Given the description of an element on the screen output the (x, y) to click on. 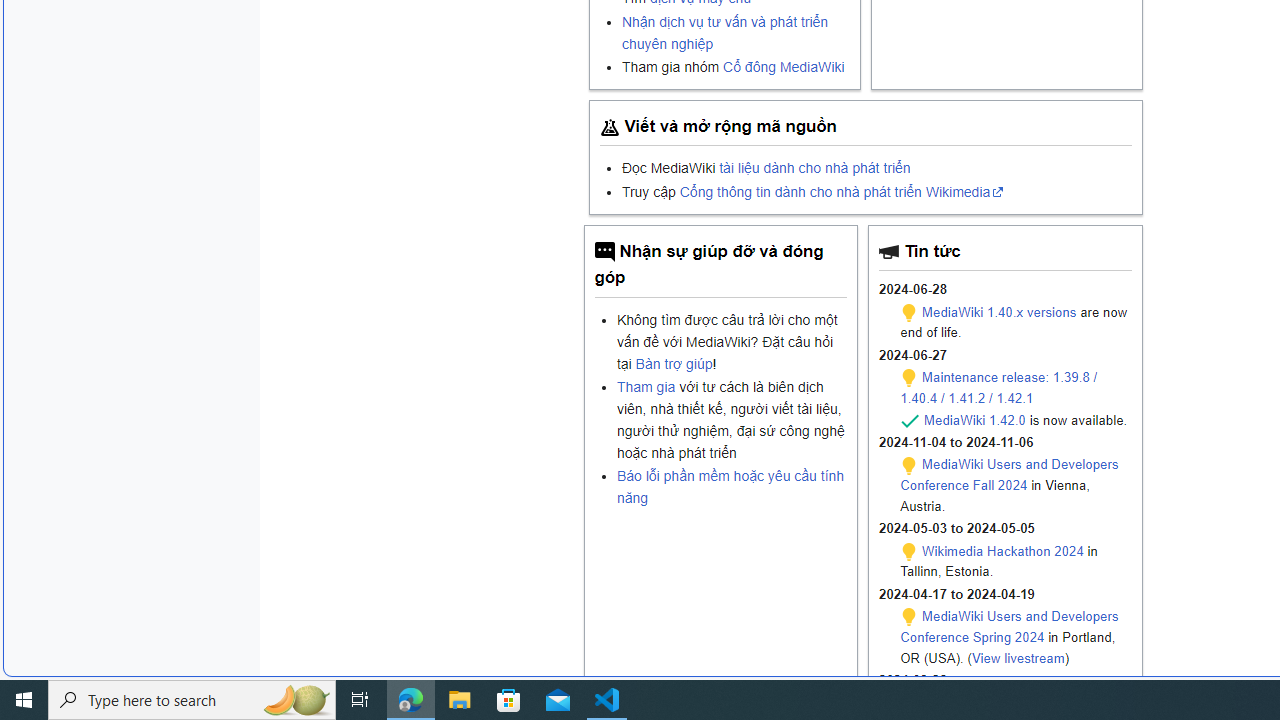
Maintenance update (909, 617)
Maintenance release: 1.39.8 / 1.40.4 / 1.41.2 / 1.42.1 (998, 387)
MediaWiki 1.40.x versions (998, 311)
MediaWiki Users and Developers Conference Fall 2024 (1008, 475)
MediaWiki 1.42.0 (974, 419)
